Given the description of an element on the screen output the (x, y) to click on. 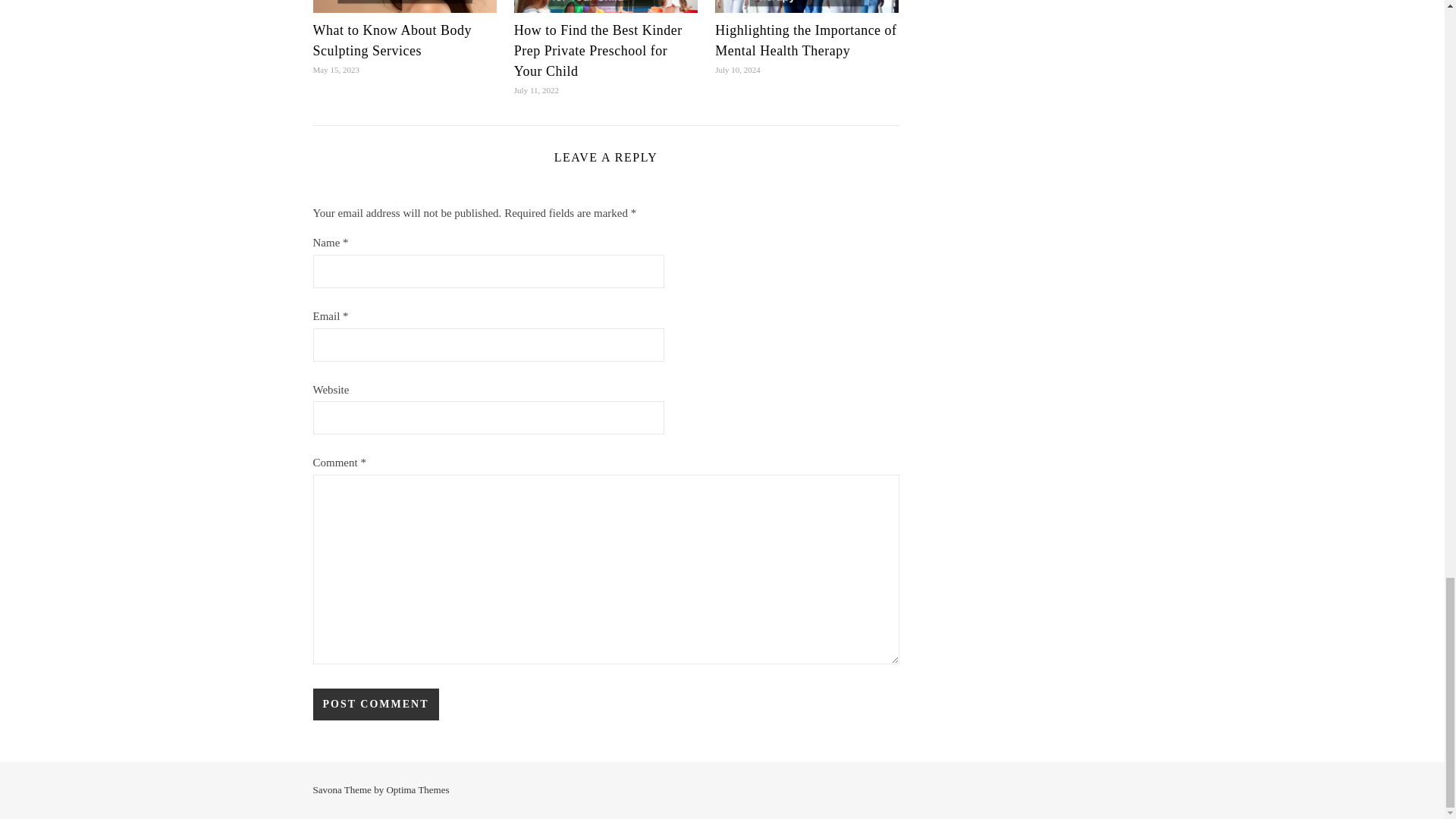
Post Comment (375, 704)
What to Know About Body Sculpting Services (392, 40)
Post Comment (375, 704)
Optima Themes (416, 789)
Highlighting the Importance of Mental Health Therapy (805, 40)
